Given the description of an element on the screen output the (x, y) to click on. 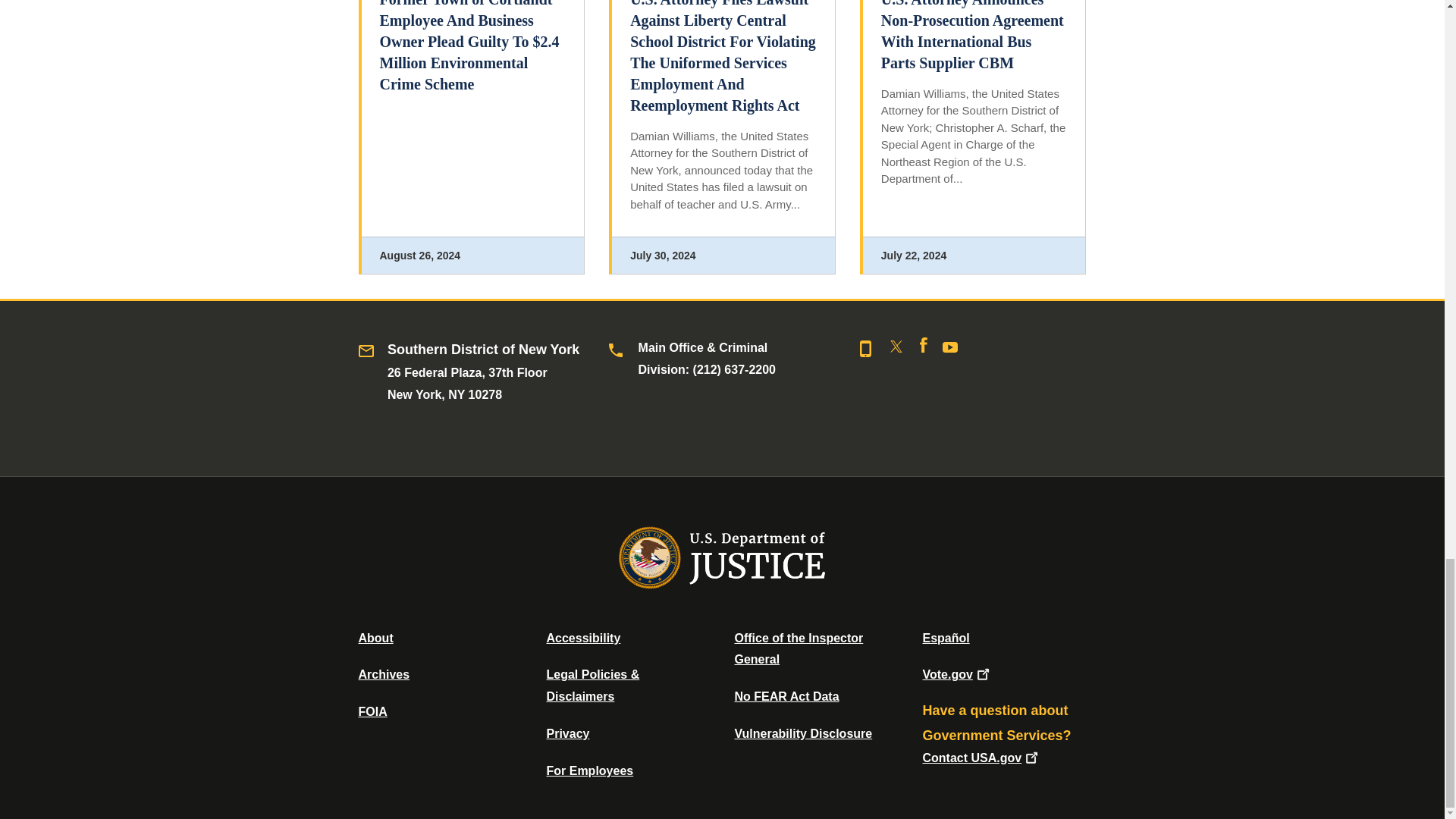
For Employees (589, 770)
Department of Justice Archive (383, 674)
Office of Information Policy (372, 711)
Accessibility Statement (583, 637)
Data Posted Pursuant To The No Fear Act (785, 696)
Legal Policies and Disclaimers (592, 685)
About DOJ (375, 637)
